Given the description of an element on the screen output the (x, y) to click on. 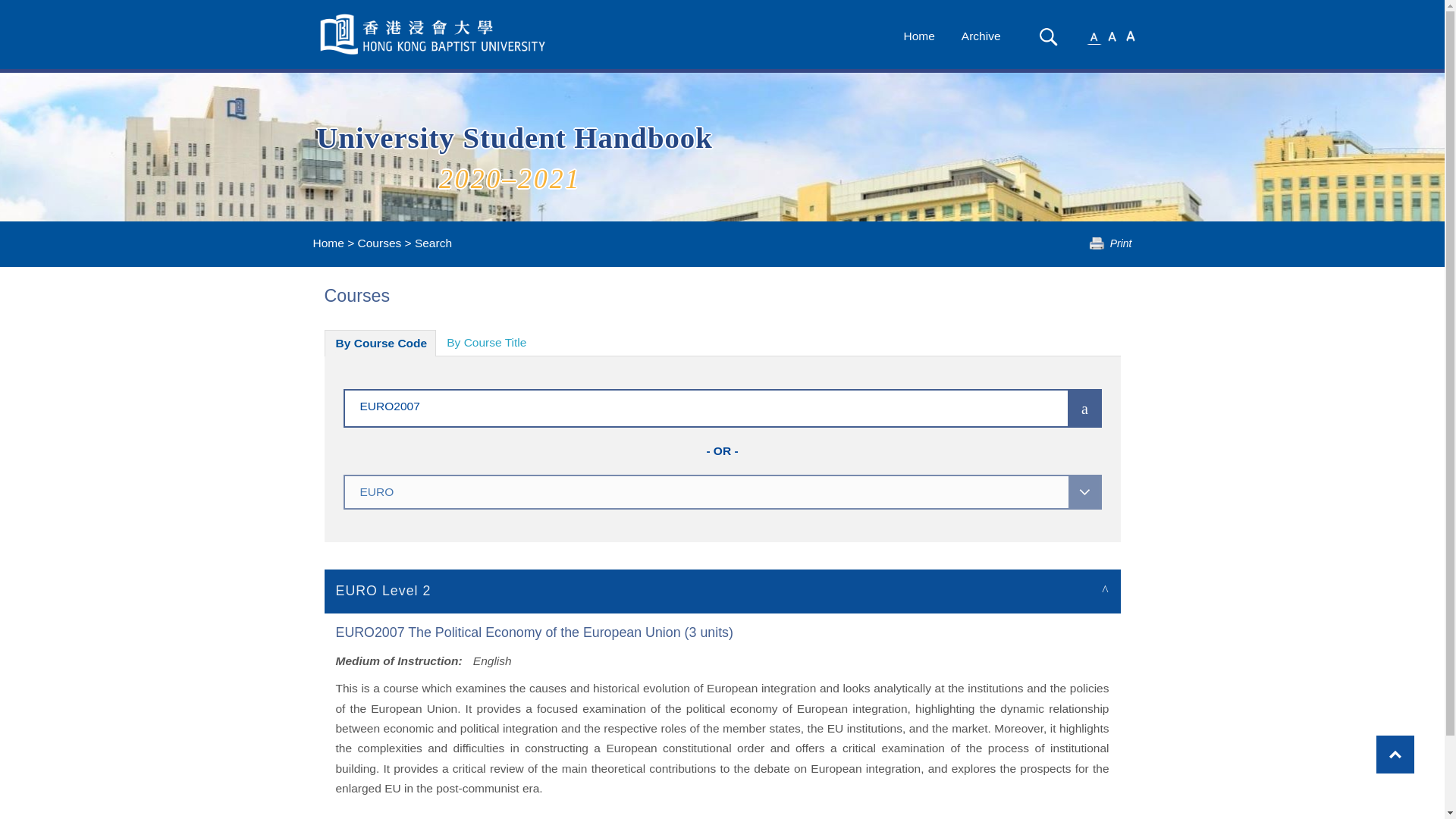
Print (1110, 243)
Archive (981, 36)
Scroll To Top (1394, 754)
Home (918, 36)
Courses (379, 242)
Search (1048, 36)
Search (1048, 36)
EURO Level 2 (722, 590)
Scroll To Top (1394, 754)
EURO2007 (683, 404)
